Given the description of an element on the screen output the (x, y) to click on. 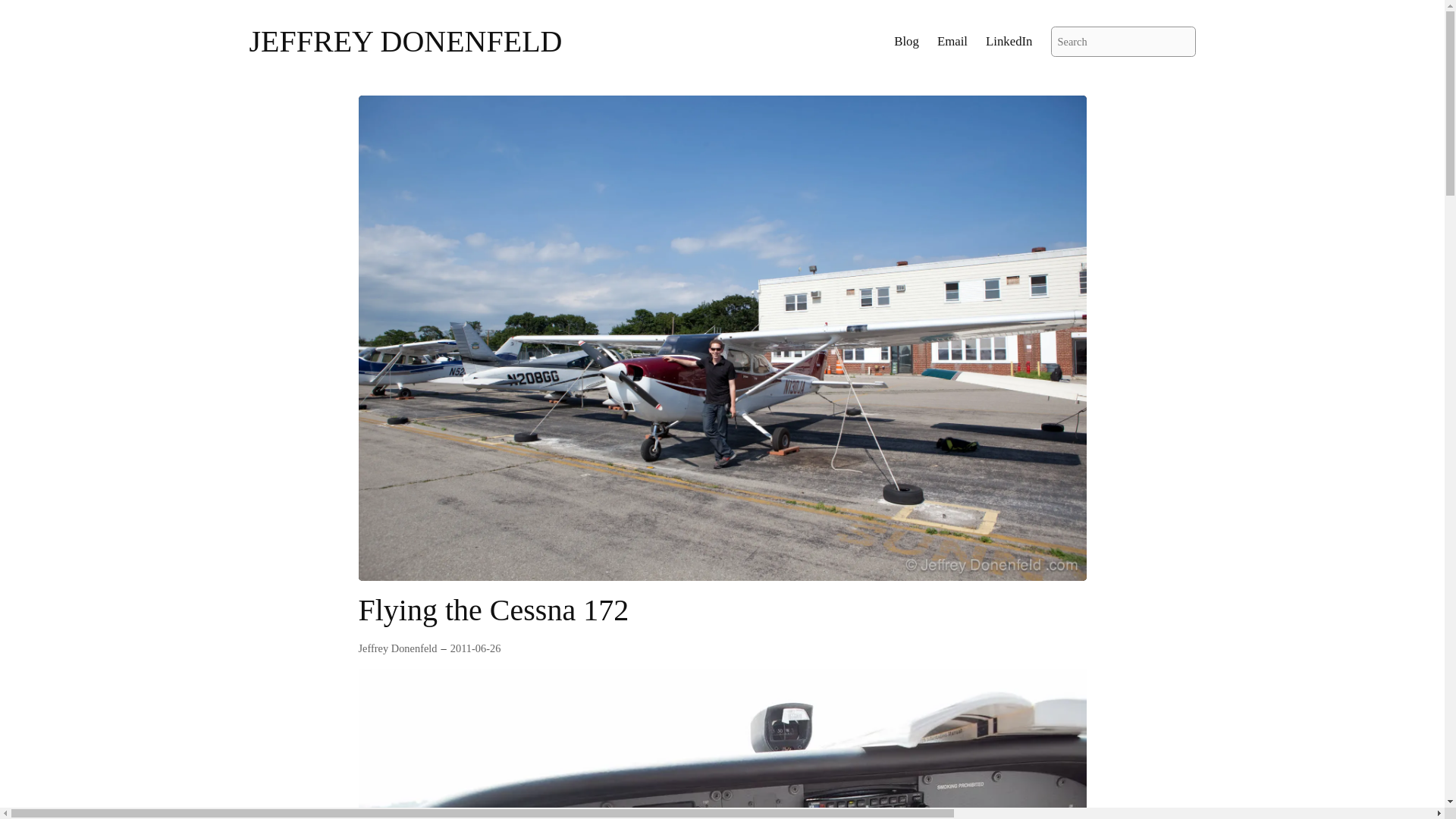
Blog (905, 41)
2011-06-26 (474, 648)
LinkedIn (1008, 41)
JEFFREY DONENFELD (405, 41)
blog (905, 41)
Email (952, 41)
